Given the description of an element on the screen output the (x, y) to click on. 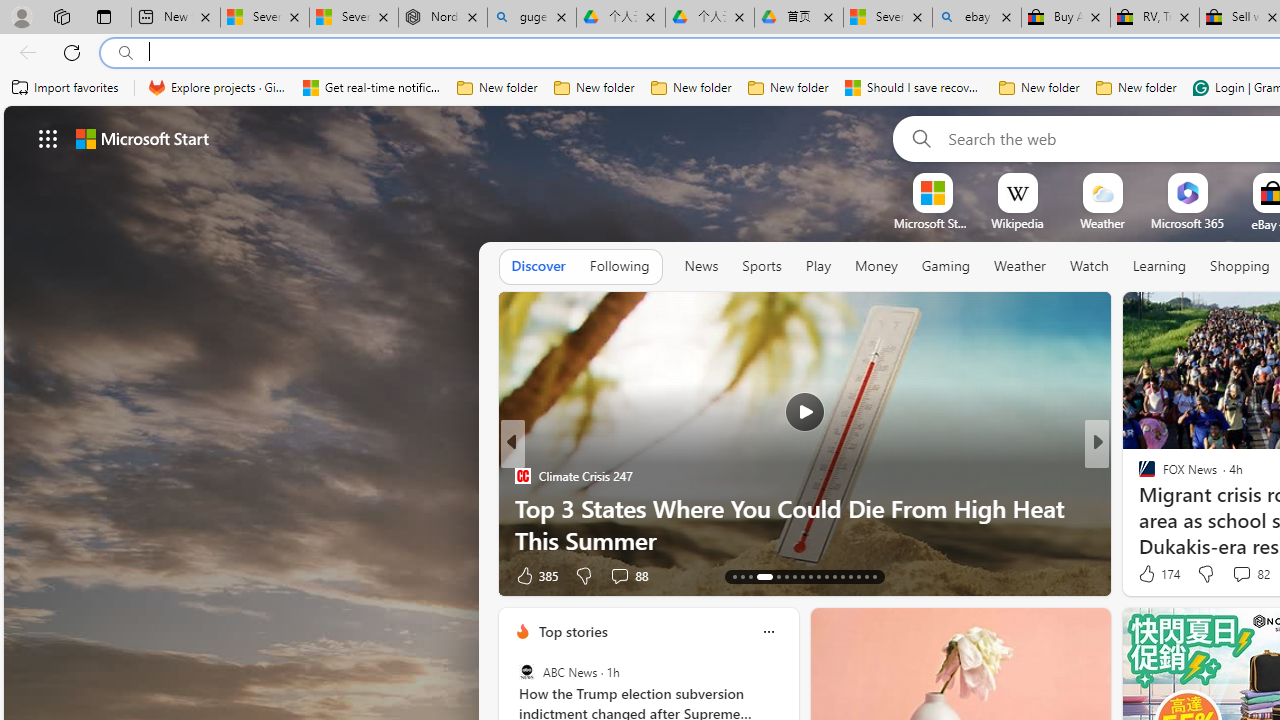
View comments 1 Comment (1229, 575)
guge yunpan - Search (531, 17)
View comments 4 Comment (1241, 574)
The Manual (1138, 475)
View comments 10 Comment (1237, 574)
News (701, 265)
69 Like (1149, 574)
AutomationID: tab-16 (763, 576)
Learning (1159, 267)
Money (876, 267)
Class: control (47, 138)
